Given the description of an element on the screen output the (x, y) to click on. 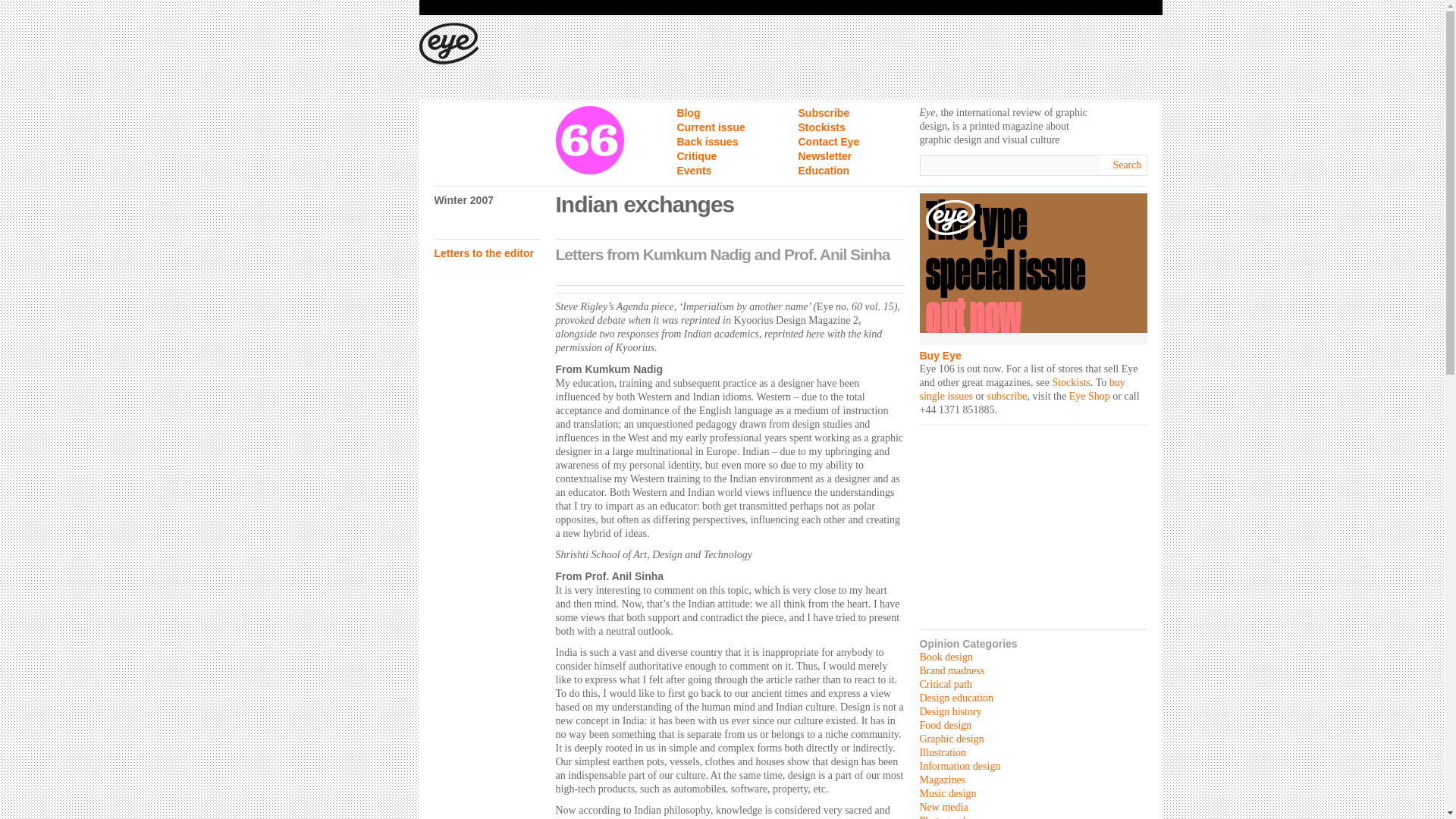
Search (1128, 165)
Eye Magazine (448, 43)
Critique (696, 155)
Subscribe (822, 112)
subscribe (1007, 396)
Photography (946, 816)
Back issues (707, 141)
Information design (959, 766)
Contact Eye (828, 141)
Food design (944, 725)
Education (822, 170)
Current issue (710, 127)
Design education (955, 697)
Stockists (820, 127)
Brand madness (951, 670)
